Given the description of an element on the screen output the (x, y) to click on. 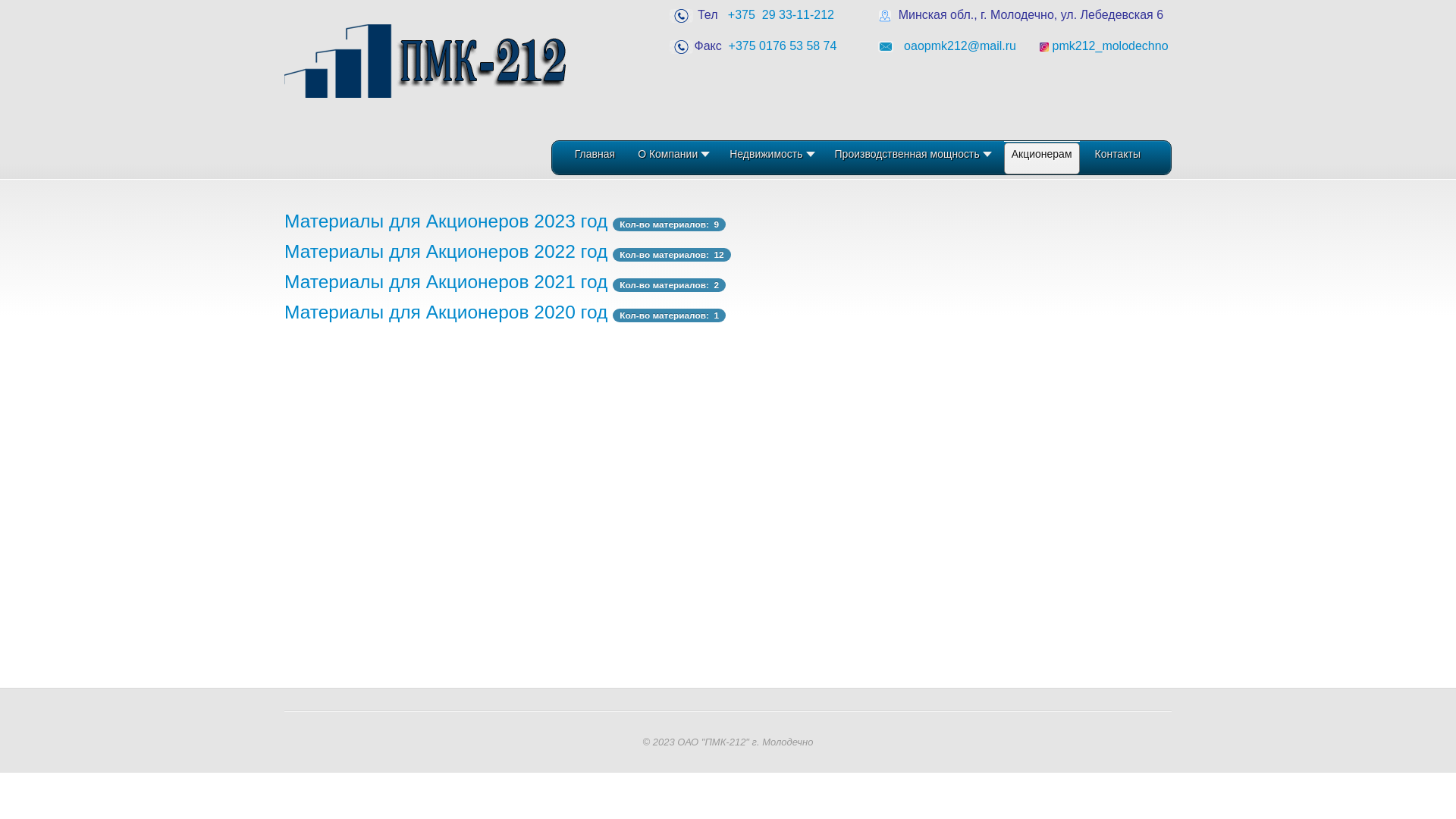
+375 0176 53 58 74  Element type: text (784, 45)
+375  29 33-11-212  Element type: text (784, 14)
pmk212_molodechno  Element type: text (1111, 45)
oaopmk212@mail.ru  Element type: text (962, 45)
